Given the description of an element on the screen output the (x, y) to click on. 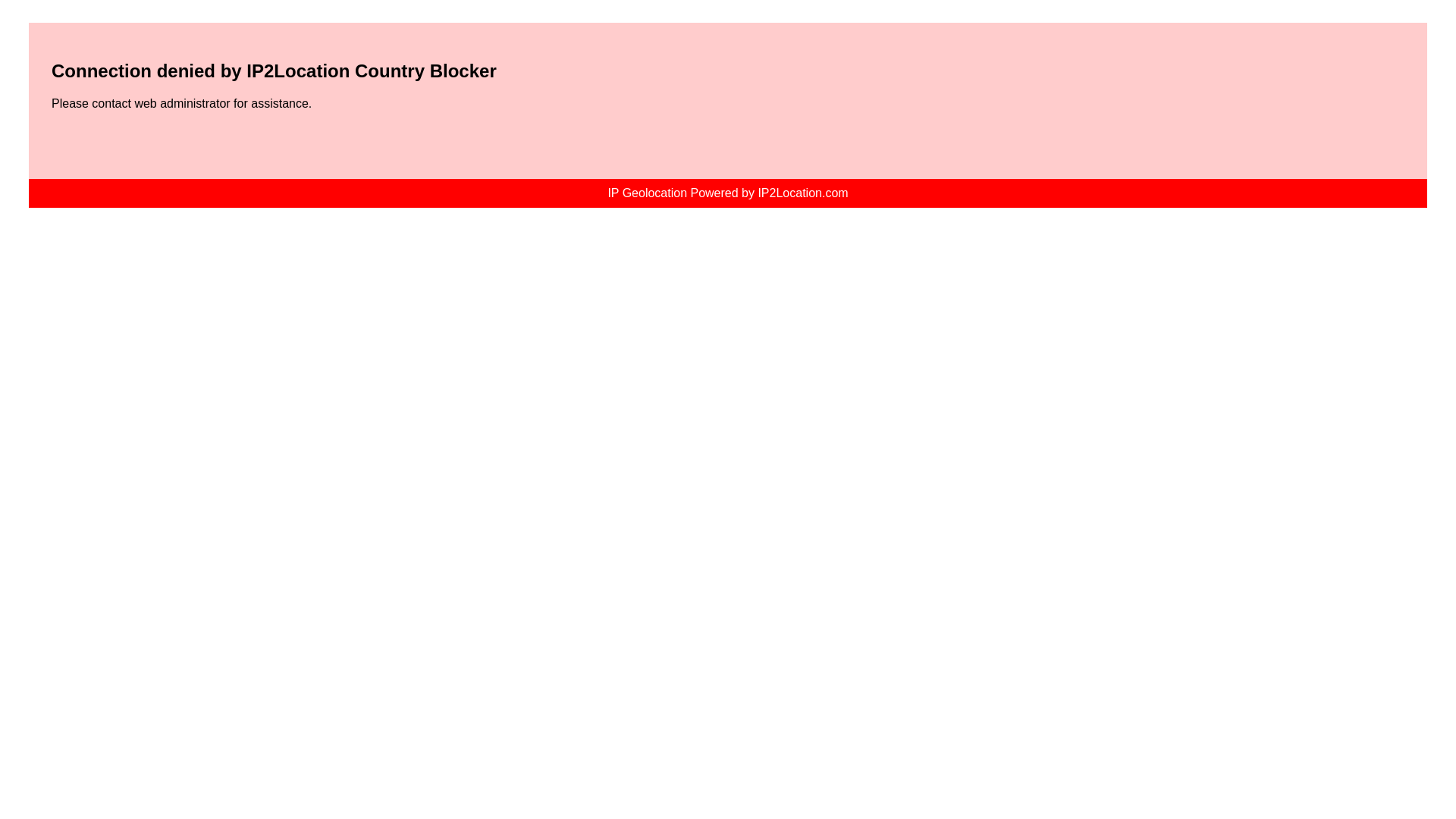
IP Geolocation Powered by IP2Location.com (727, 192)
